Given the description of an element on the screen output the (x, y) to click on. 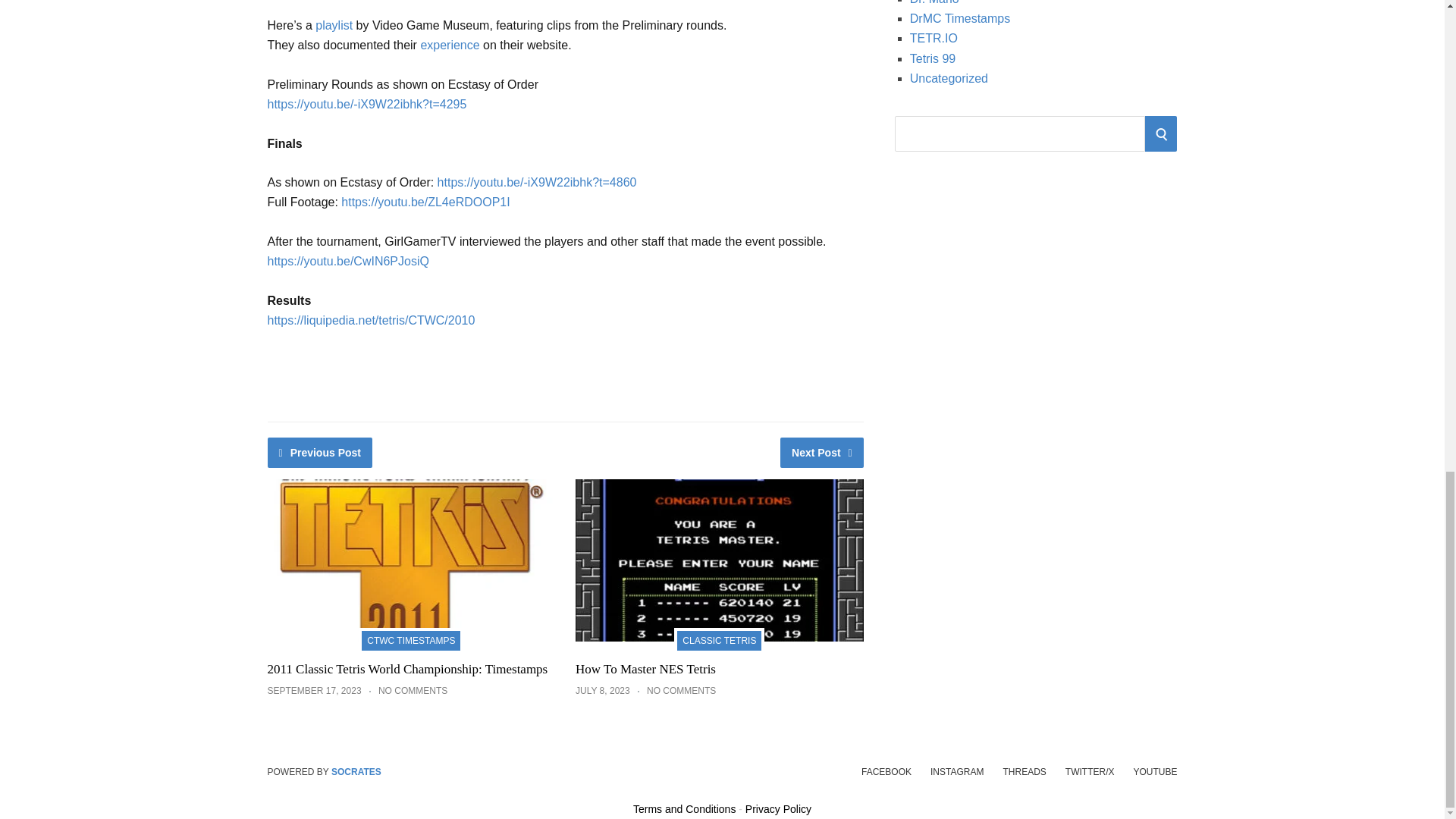
2011 Classic Tetris World Championship: Timestamps (406, 668)
How To Master NES Tetris (645, 668)
playlist (333, 24)
NO COMMENTS (412, 690)
CLASSIC TETRIS (719, 639)
CTWC TIMESTAMPS (410, 639)
experience (449, 44)
Previous Post (319, 452)
NO COMMENTS (681, 690)
Next Post (821, 452)
